Given the description of an element on the screen output the (x, y) to click on. 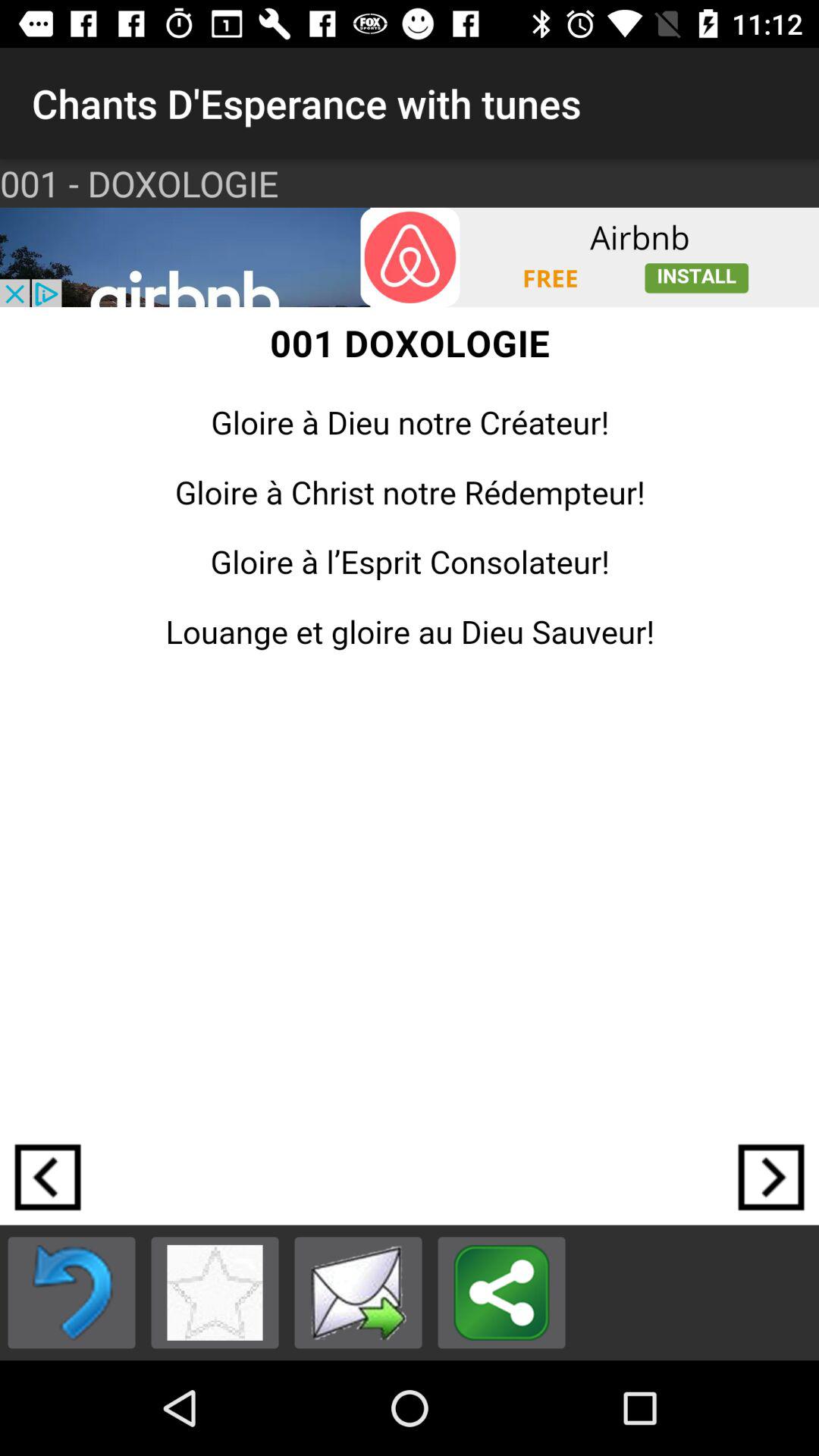
go back (47, 1177)
